Given the description of an element on the screen output the (x, y) to click on. 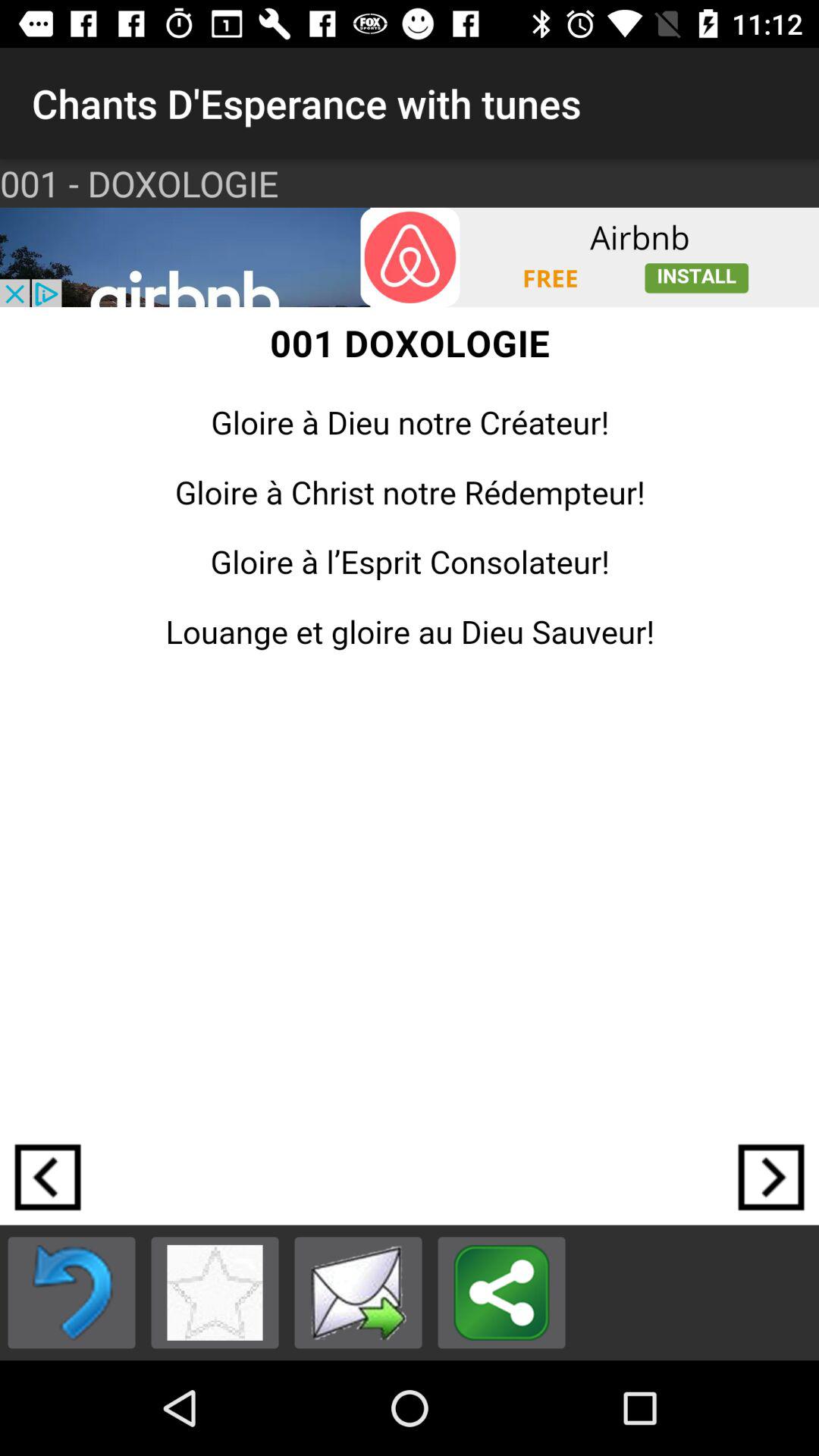
go back (47, 1177)
